Given the description of an element on the screen output the (x, y) to click on. 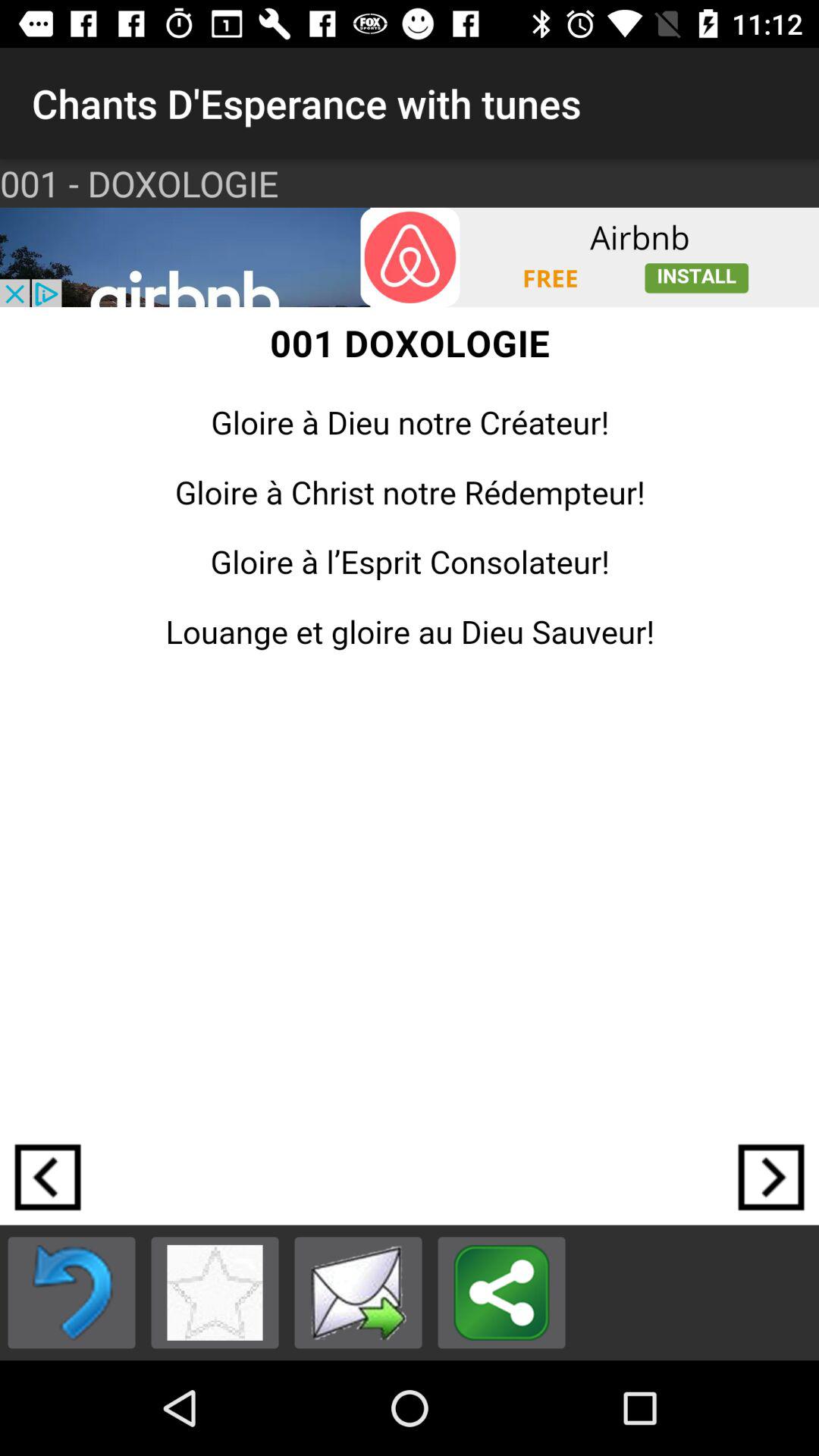
go back (47, 1177)
